Given the description of an element on the screen output the (x, y) to click on. 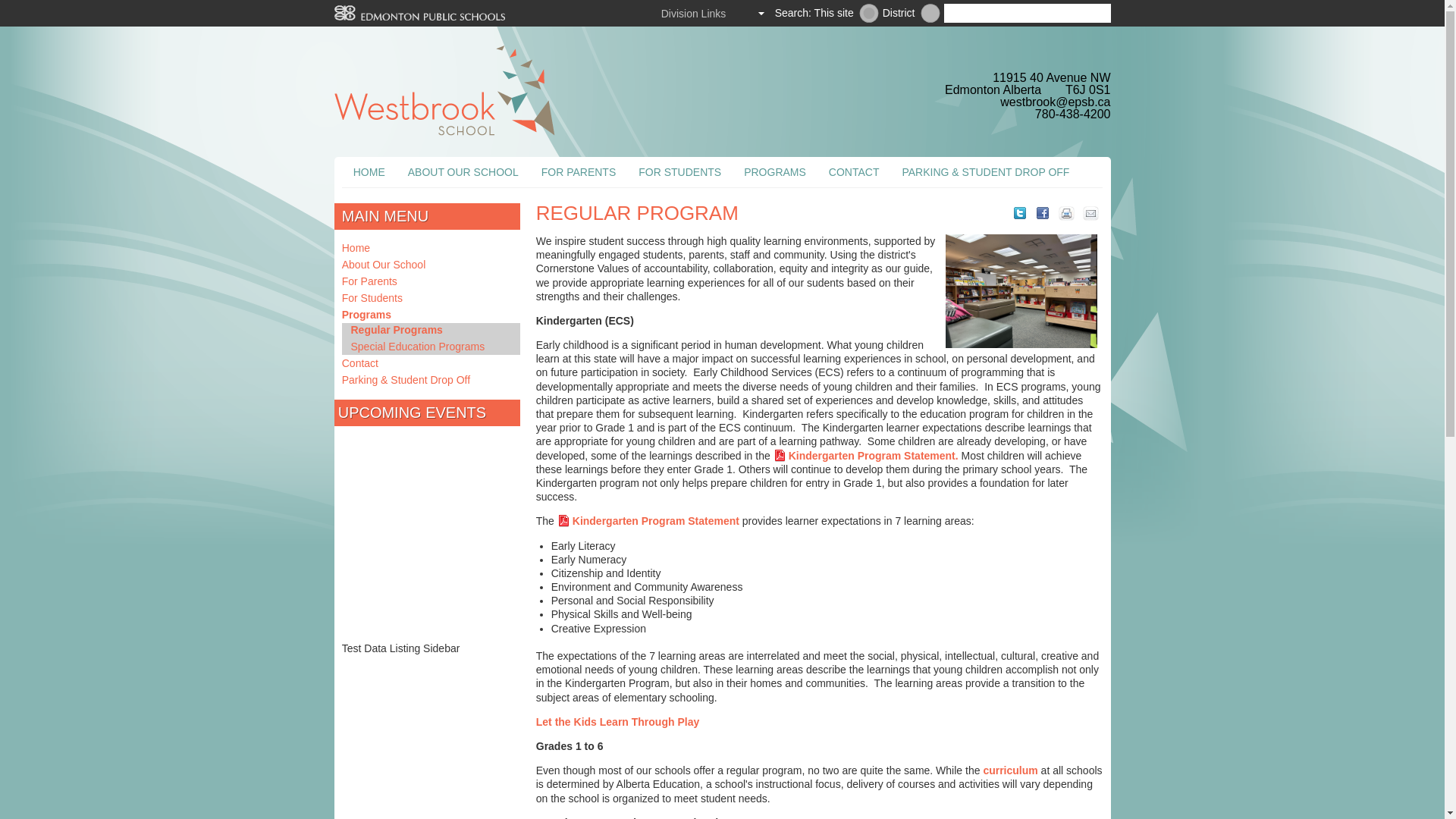
PROGRAMS (774, 172)
780-438-4200 (1072, 113)
ABOUT OUR SCHOOL (462, 172)
FOR PARENTS (578, 172)
HOME (369, 172)
FOR STUDENTS (679, 172)
westbrook.epsb.ca (868, 13)
CONTACT (853, 172)
